Given the description of an element on the screen output the (x, y) to click on. 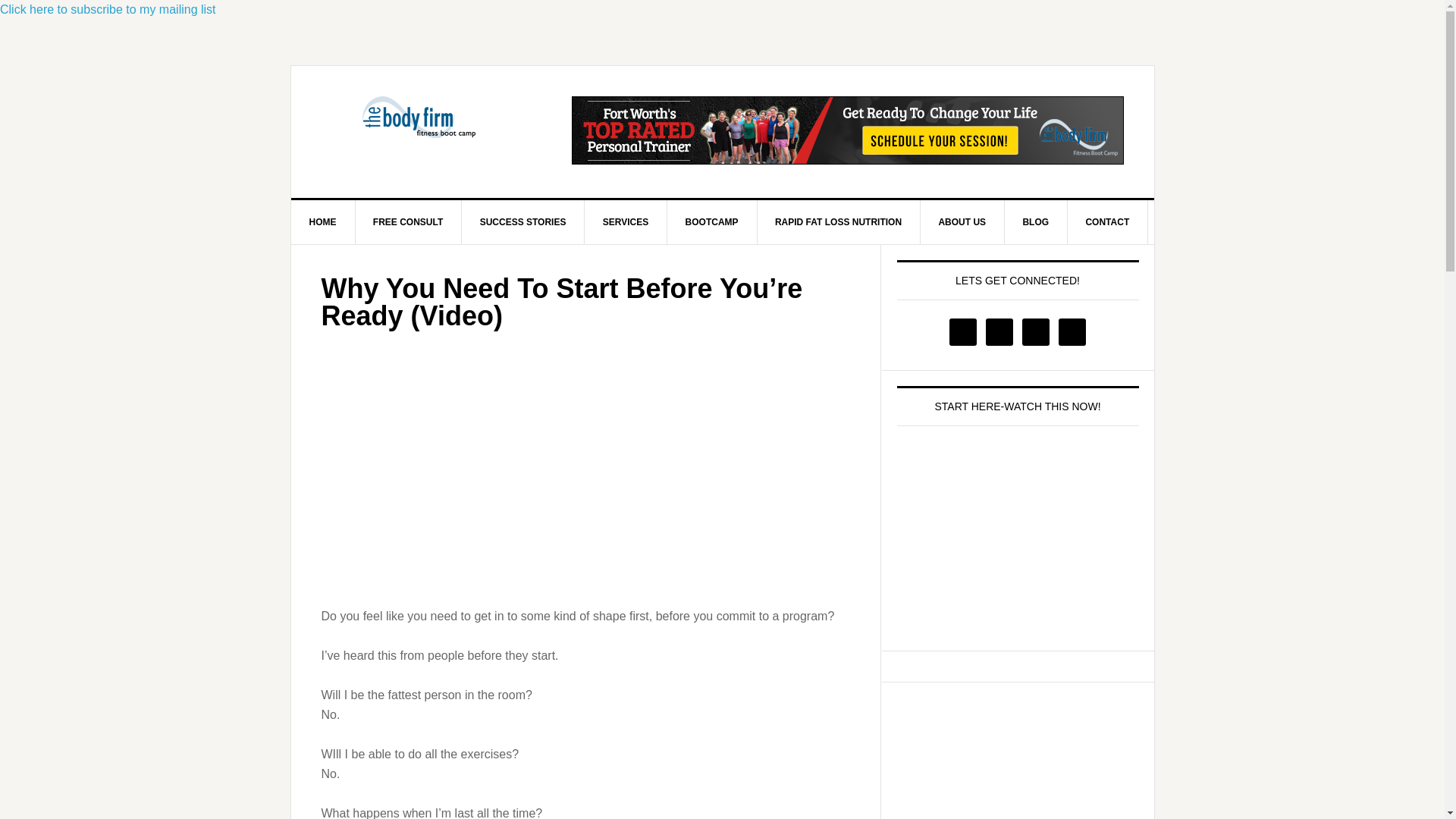
SUCCESS STORIES (523, 221)
RAPID FAT LOSS NUTRITION (838, 221)
HOME (323, 221)
BOOTCAMP (711, 221)
SERVICES (625, 221)
BLOG (1035, 221)
FREE CONSULT (408, 221)
FORT WORTH PERSONAL TRAINER PROGRAMS AND BOOTCAMP (419, 130)
CONTACT (1107, 221)
Click here to subscribe to my mailing list (107, 9)
ABOUT US (962, 221)
